Given the description of an element on the screen output the (x, y) to click on. 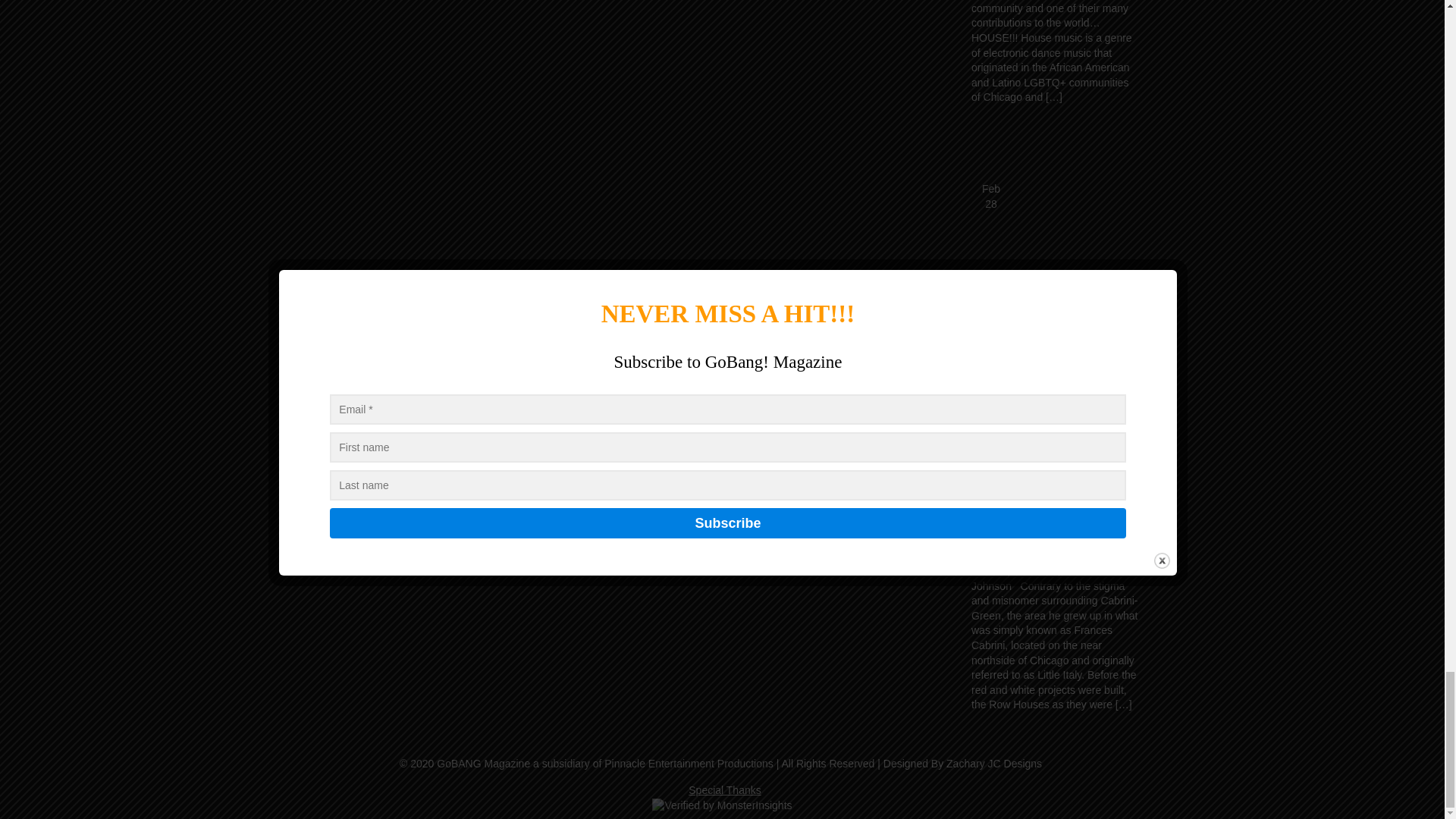
Verified by MonsterInsights (722, 806)
